Given the description of an element on the screen output the (x, y) to click on. 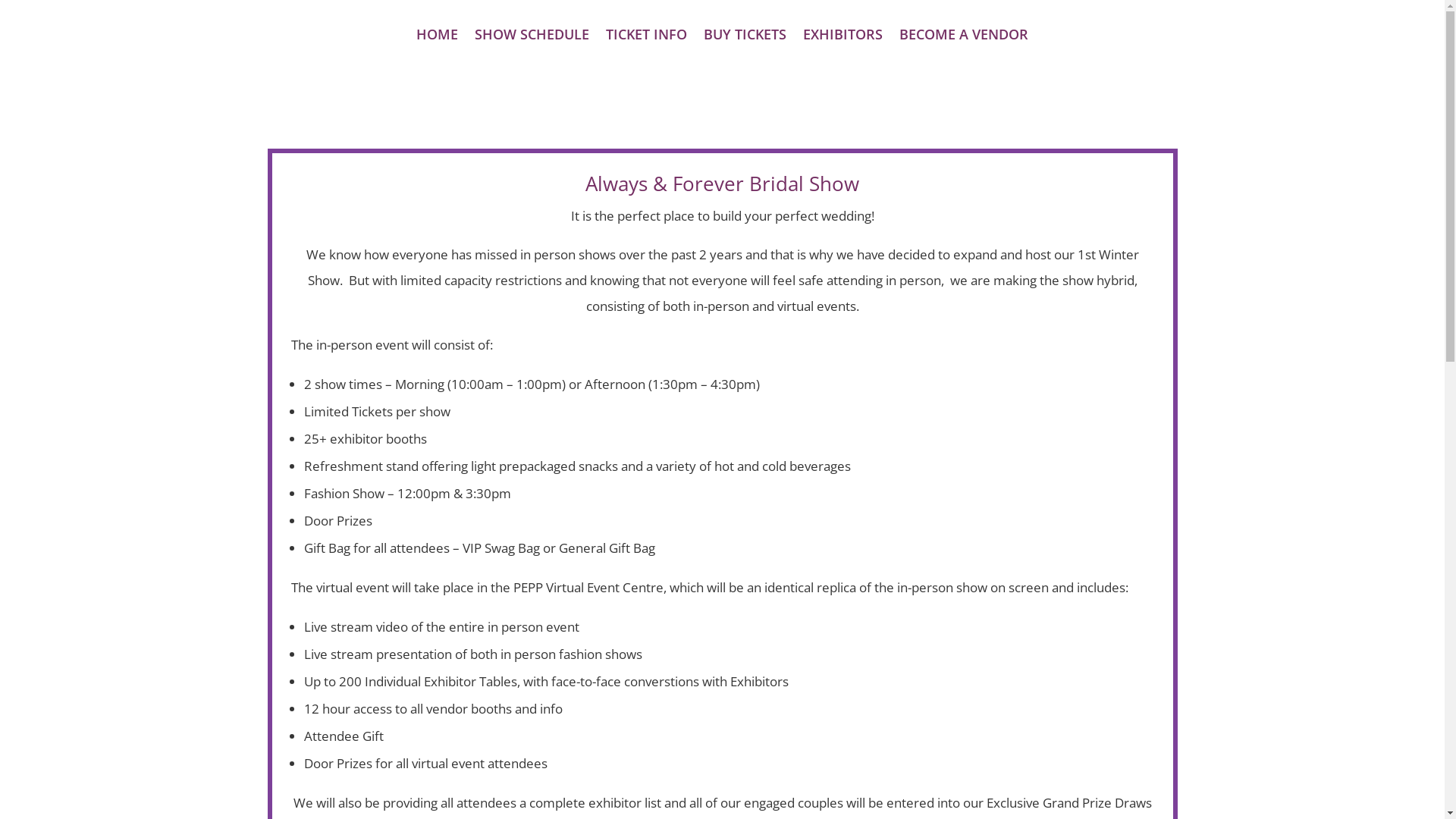
TICKET INFO Element type: text (646, 36)
SHOW SCHEDULE Element type: text (531, 36)
HOME Element type: text (437, 36)
BECOME A VENDOR Element type: text (963, 36)
EXHIBITORS Element type: text (842, 36)
BUY TICKETS Element type: text (744, 36)
